Given the description of an element on the screen output the (x, y) to click on. 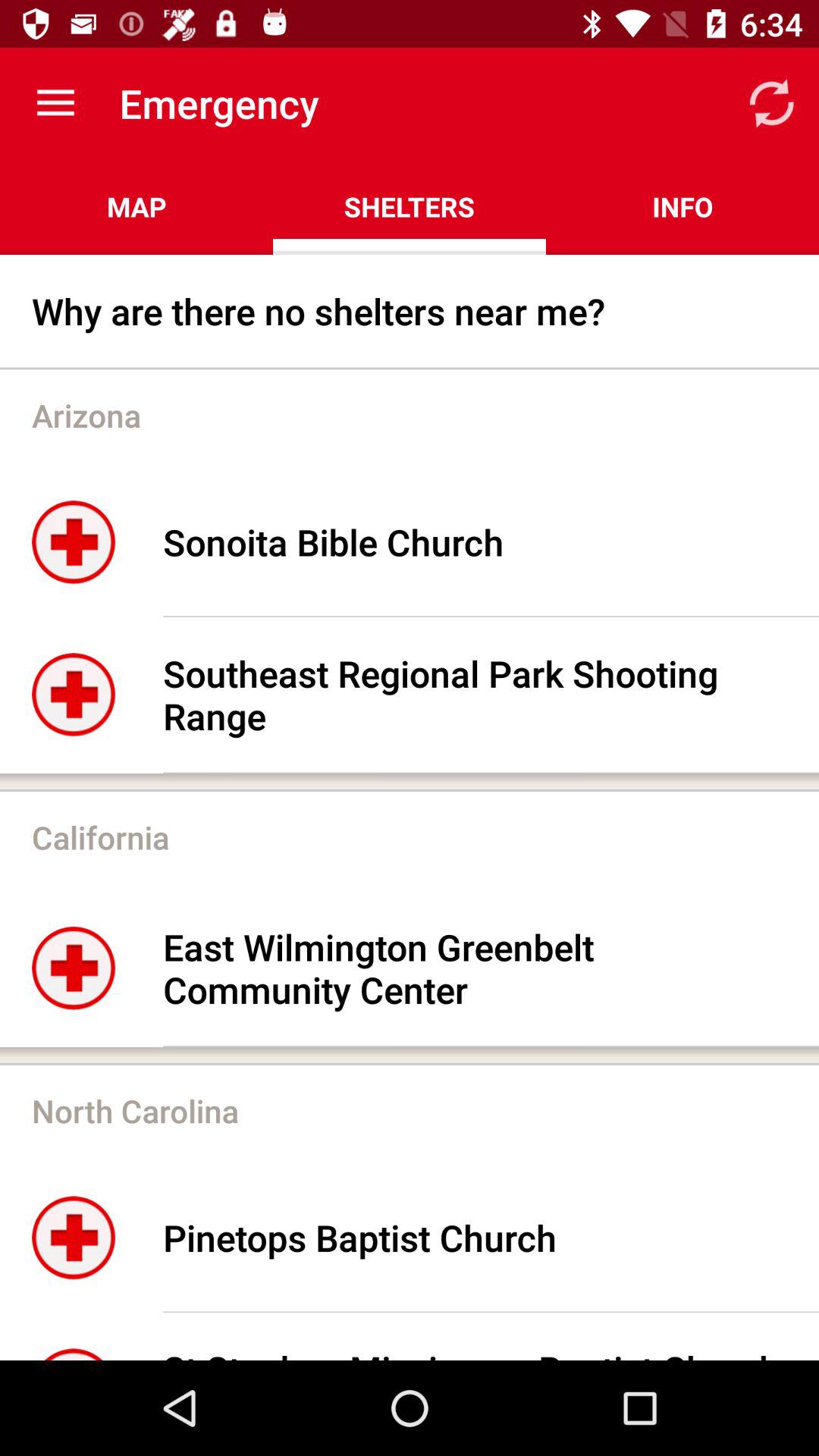
click the first image in north carolina (73, 1237)
